Given the description of an element on the screen output the (x, y) to click on. 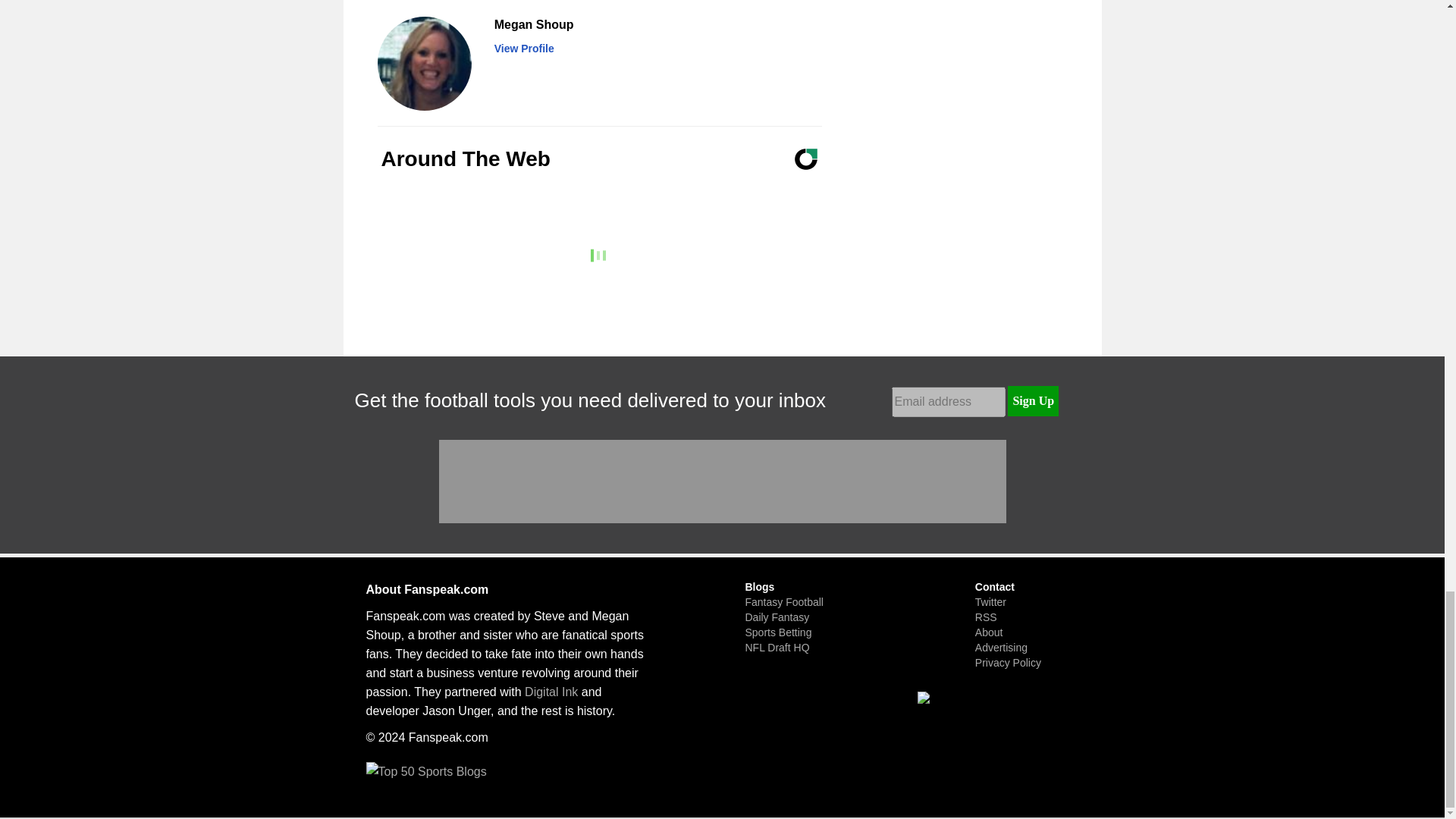
Sign Up (1032, 400)
